Given the description of an element on the screen output the (x, y) to click on. 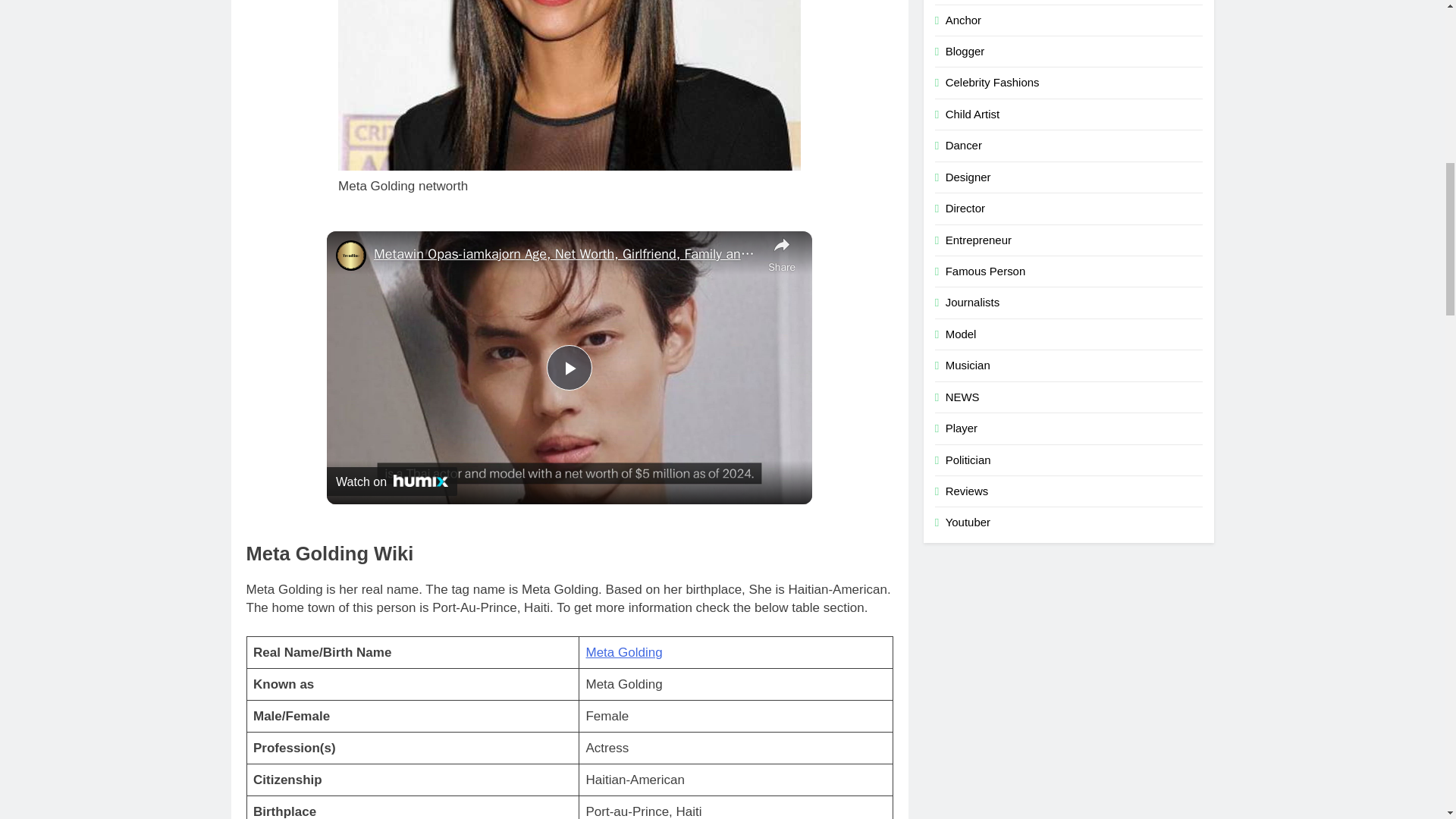
Play Video (569, 367)
Play Video (569, 367)
Meta Golding (623, 652)
Watch on (391, 481)
